Given the description of an element on the screen output the (x, y) to click on. 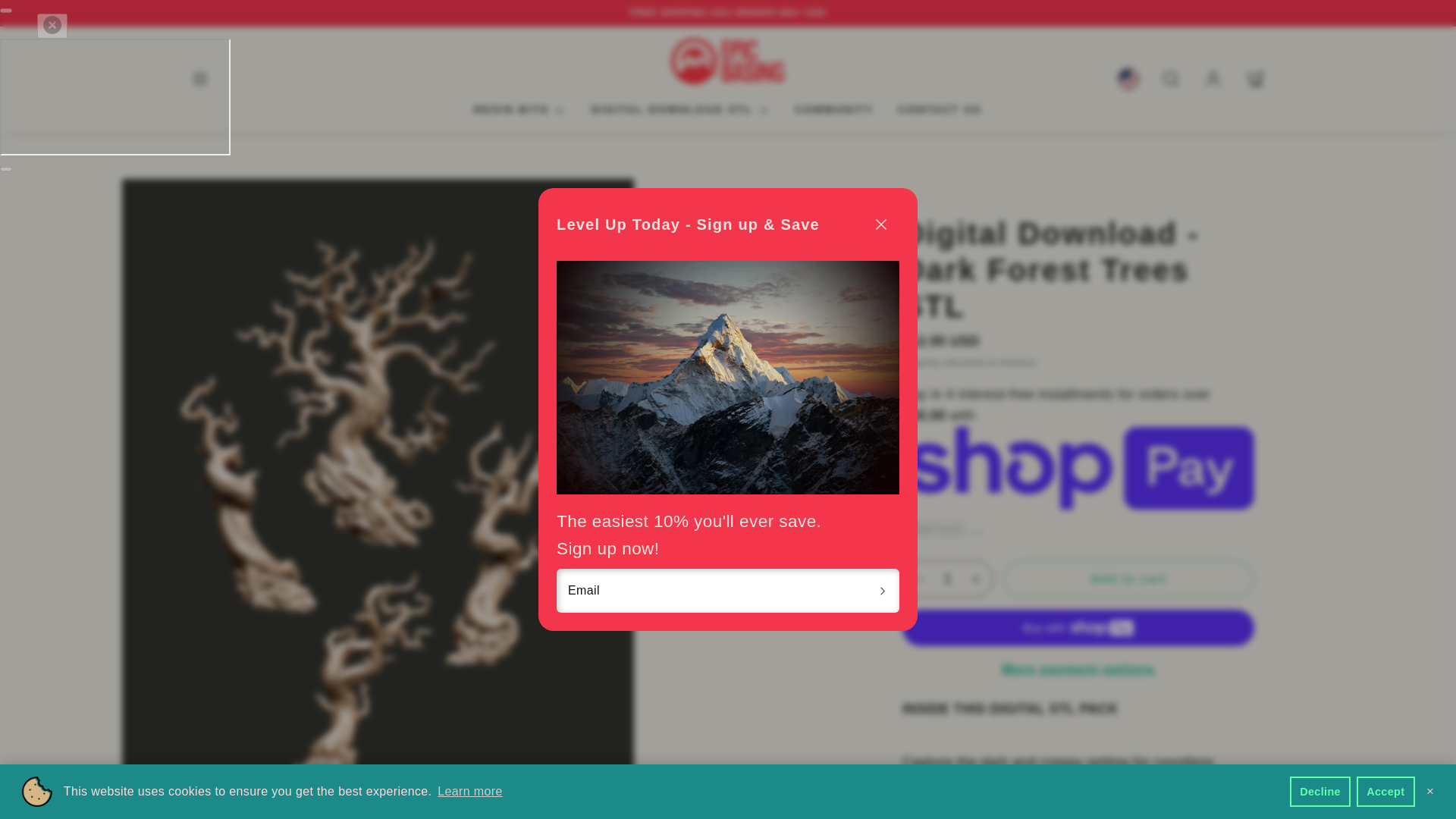
ACCOUNT (1213, 78)
SEARCH (1171, 78)
DIGITAL DOWNLOAD STL (681, 110)
MENU (200, 78)
Decline (1320, 791)
COMMUNITY (834, 110)
Accept (1385, 791)
RESIN BITS (520, 110)
Learn more (470, 791)
CONTACT US (939, 110)
